Given the description of an element on the screen output the (x, y) to click on. 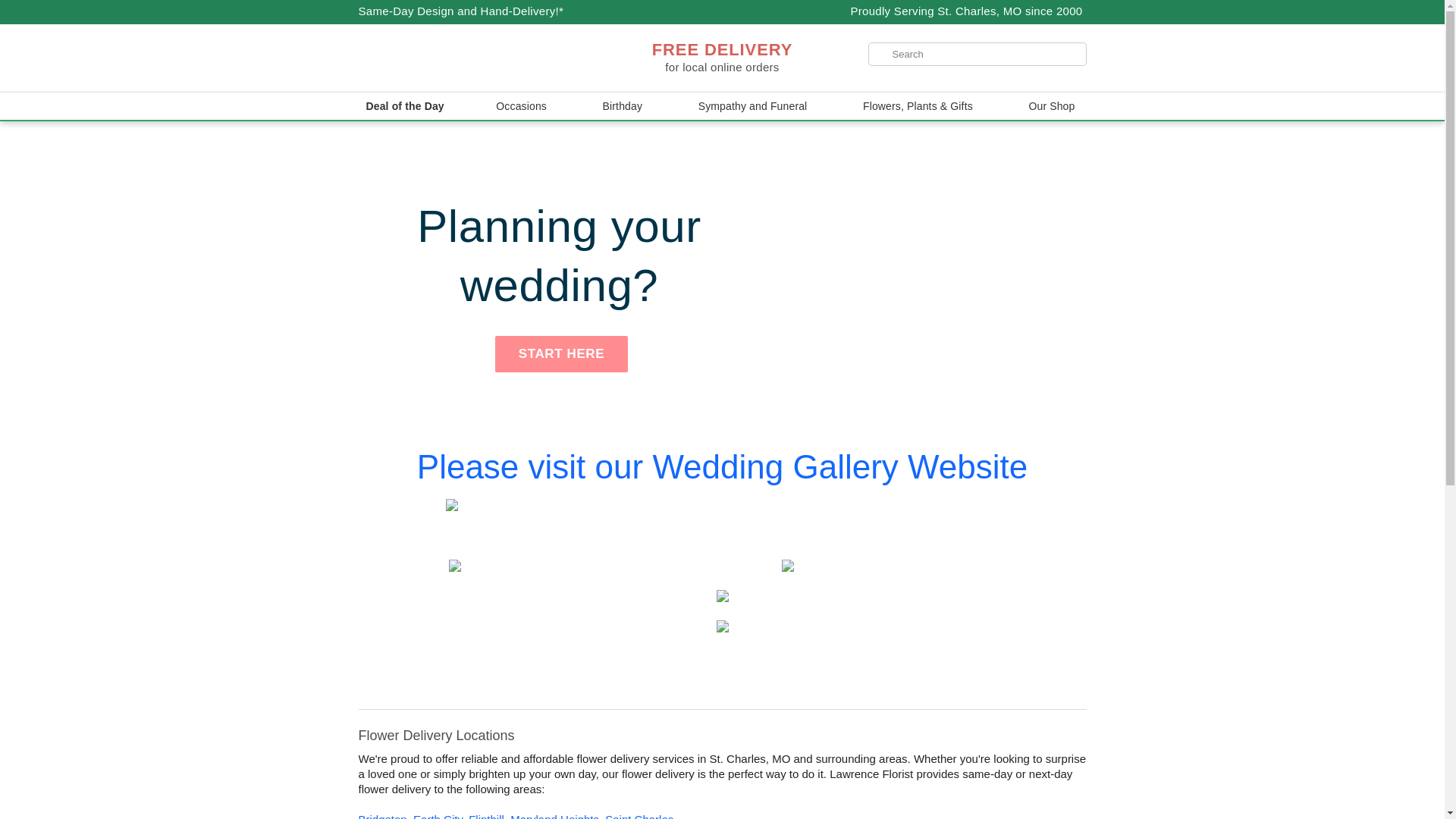
Submit Search Form (52, 7)
